Given the description of an element on the screen output the (x, y) to click on. 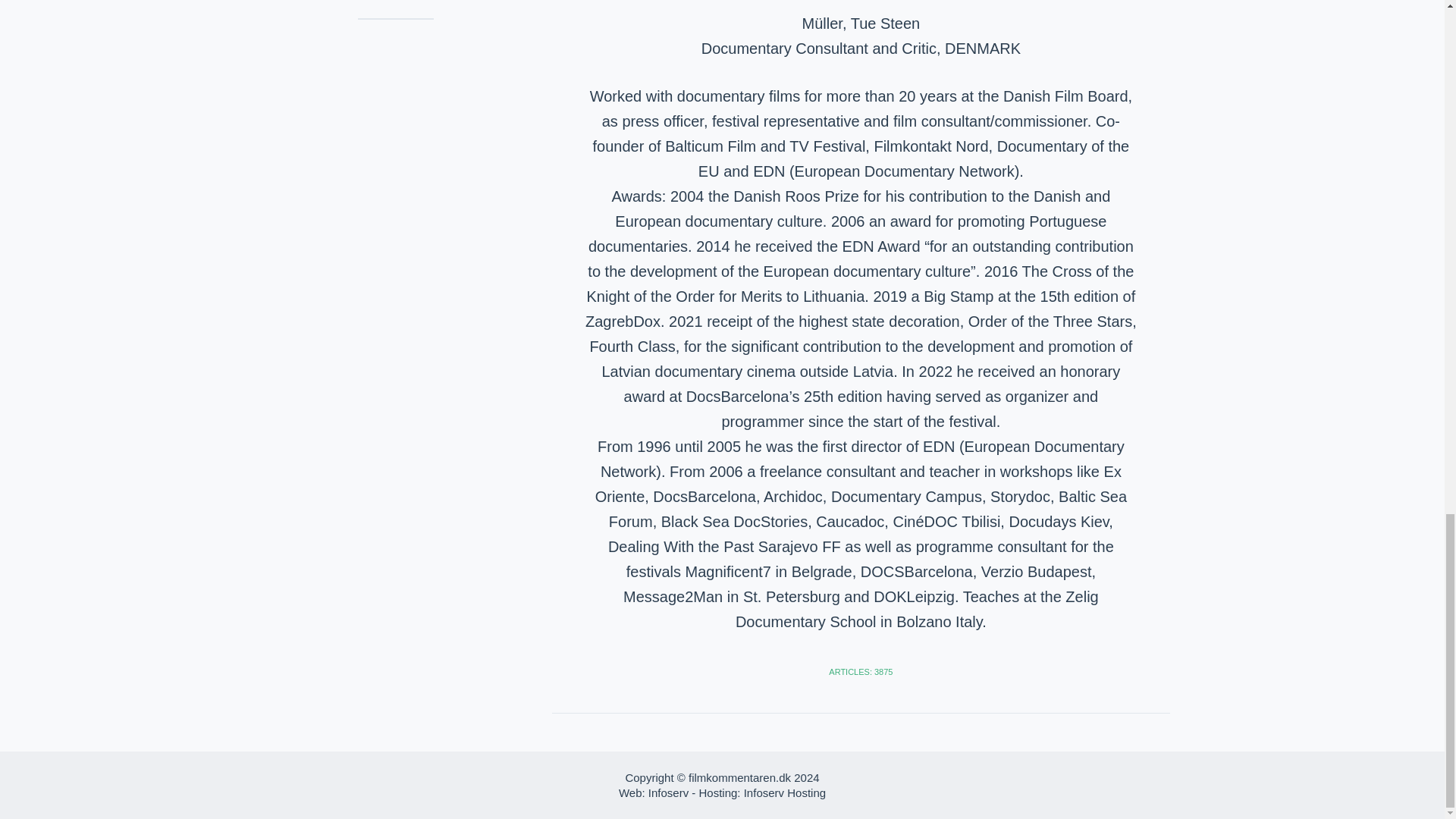
ARTICLES: 3875 (860, 671)
